Given the description of an element on the screen output the (x, y) to click on. 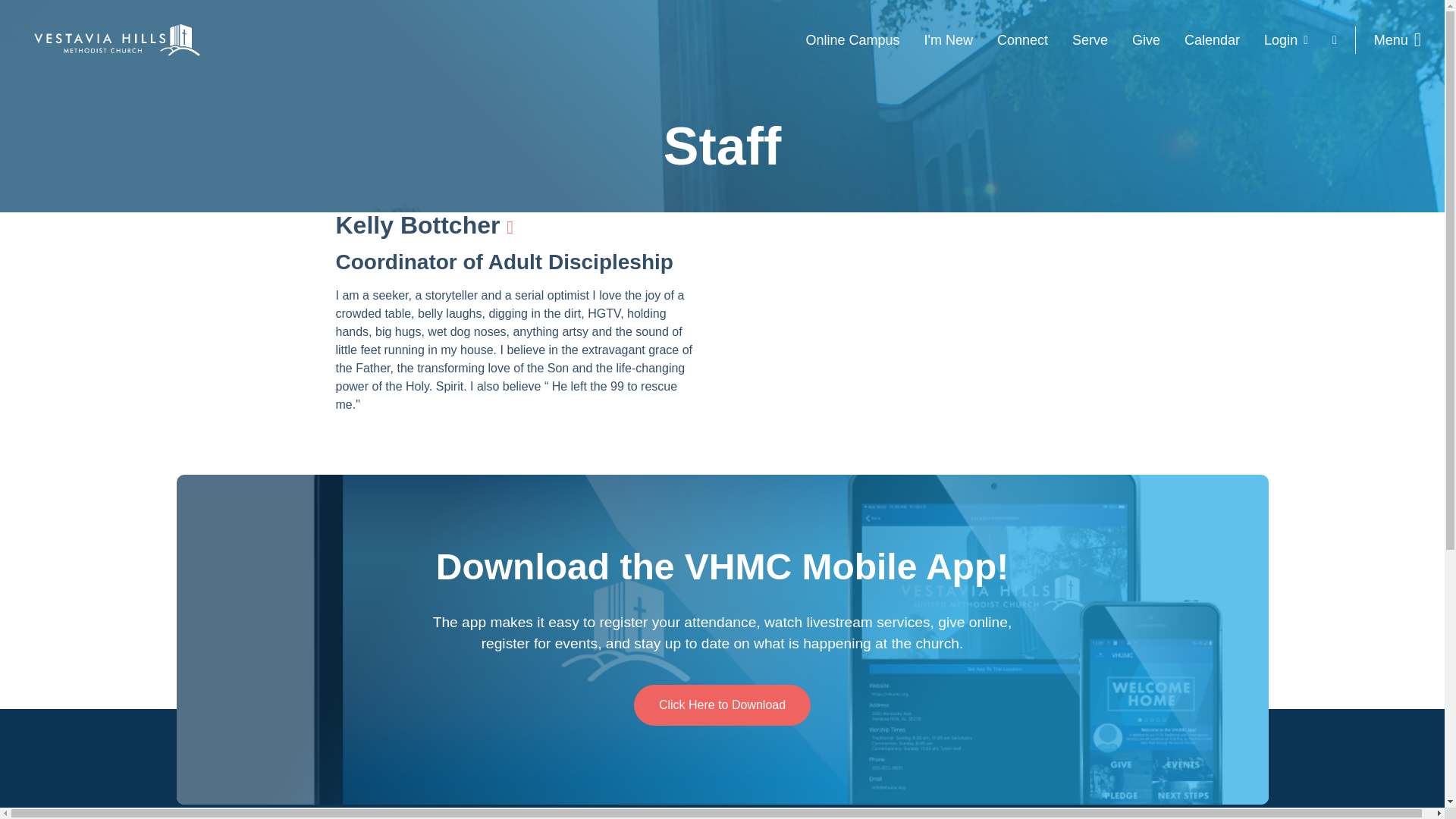
Download the VHMC App (721, 704)
Vestavia Hills Methodist Church (119, 39)
Serve (1089, 39)
Calendar (1212, 39)
Online Campus (852, 39)
Give (1145, 39)
I'm New (947, 39)
Login (1286, 39)
Menu (1396, 39)
Connect (1022, 39)
